Given the description of an element on the screen output the (x, y) to click on. 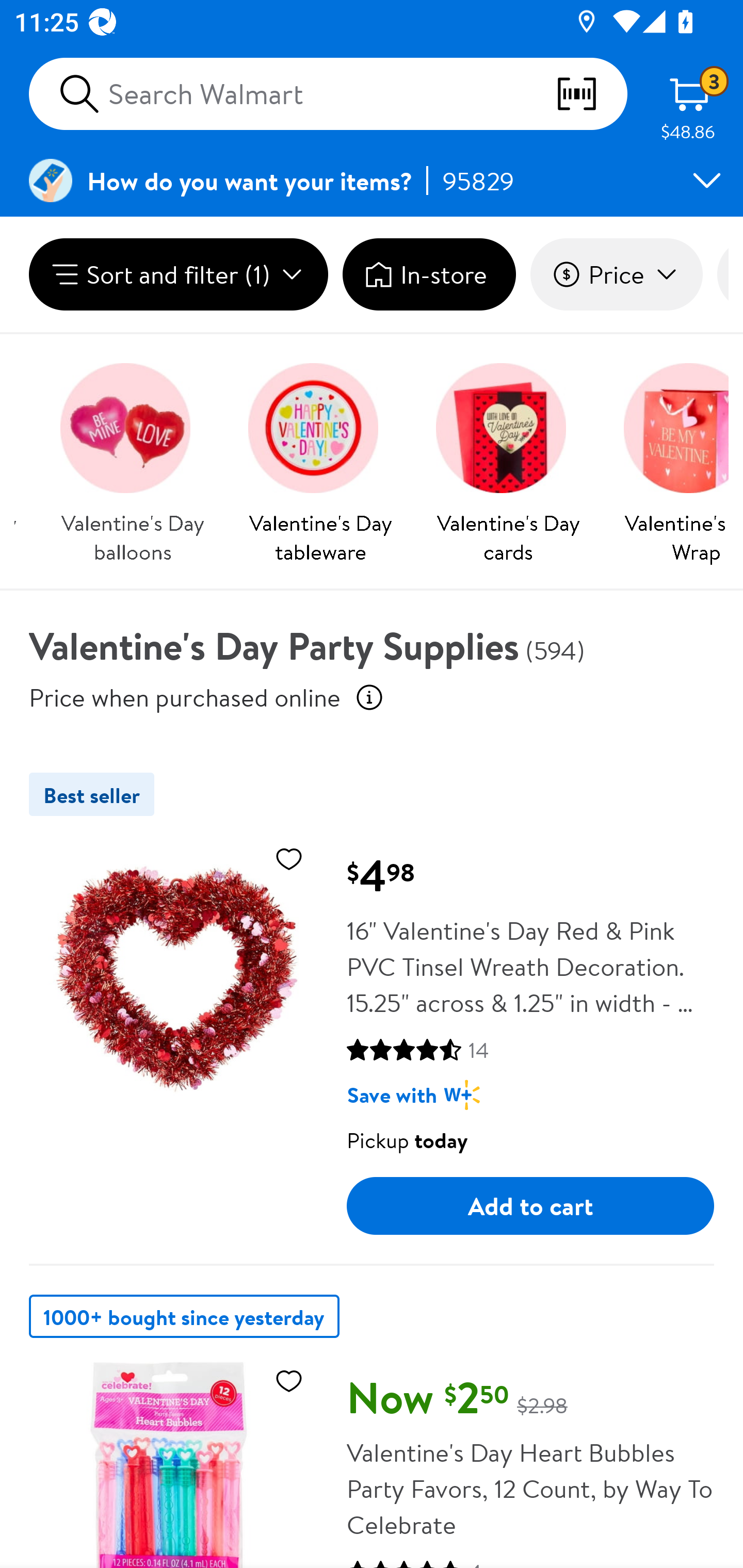
Search Walmart scan barcodes qr codes and more (327, 94)
scan barcodes qr codes and more (591, 94)
Filter by In-store, applied,  Filter icon In-store (428, 274)
Price when purchased online (184, 696)
Price when purchased online (369, 697)
Add to cart (530, 1206)
